Given the description of an element on the screen output the (x, y) to click on. 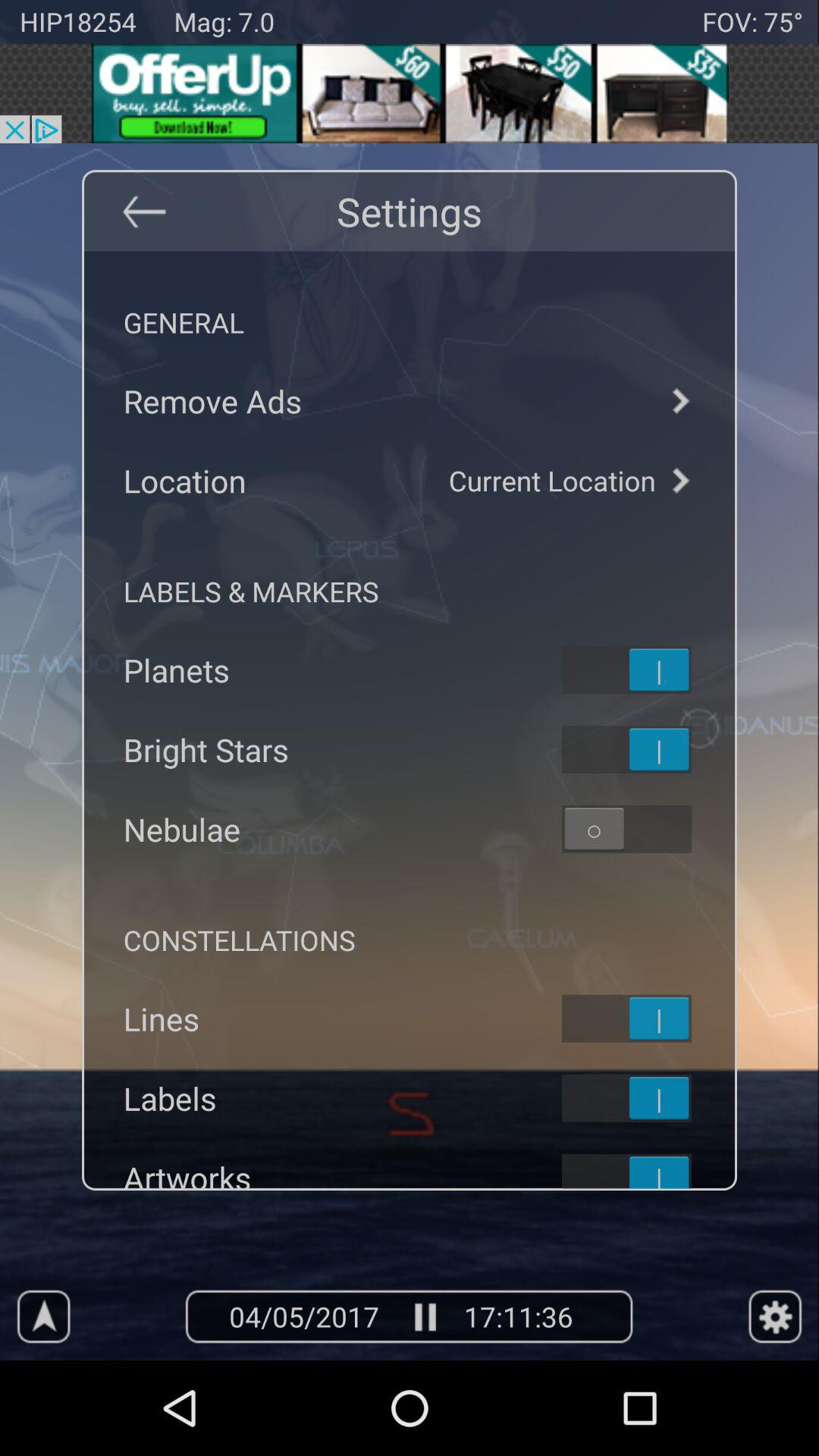
go to previuos (143, 211)
